Given the description of an element on the screen output the (x, y) to click on. 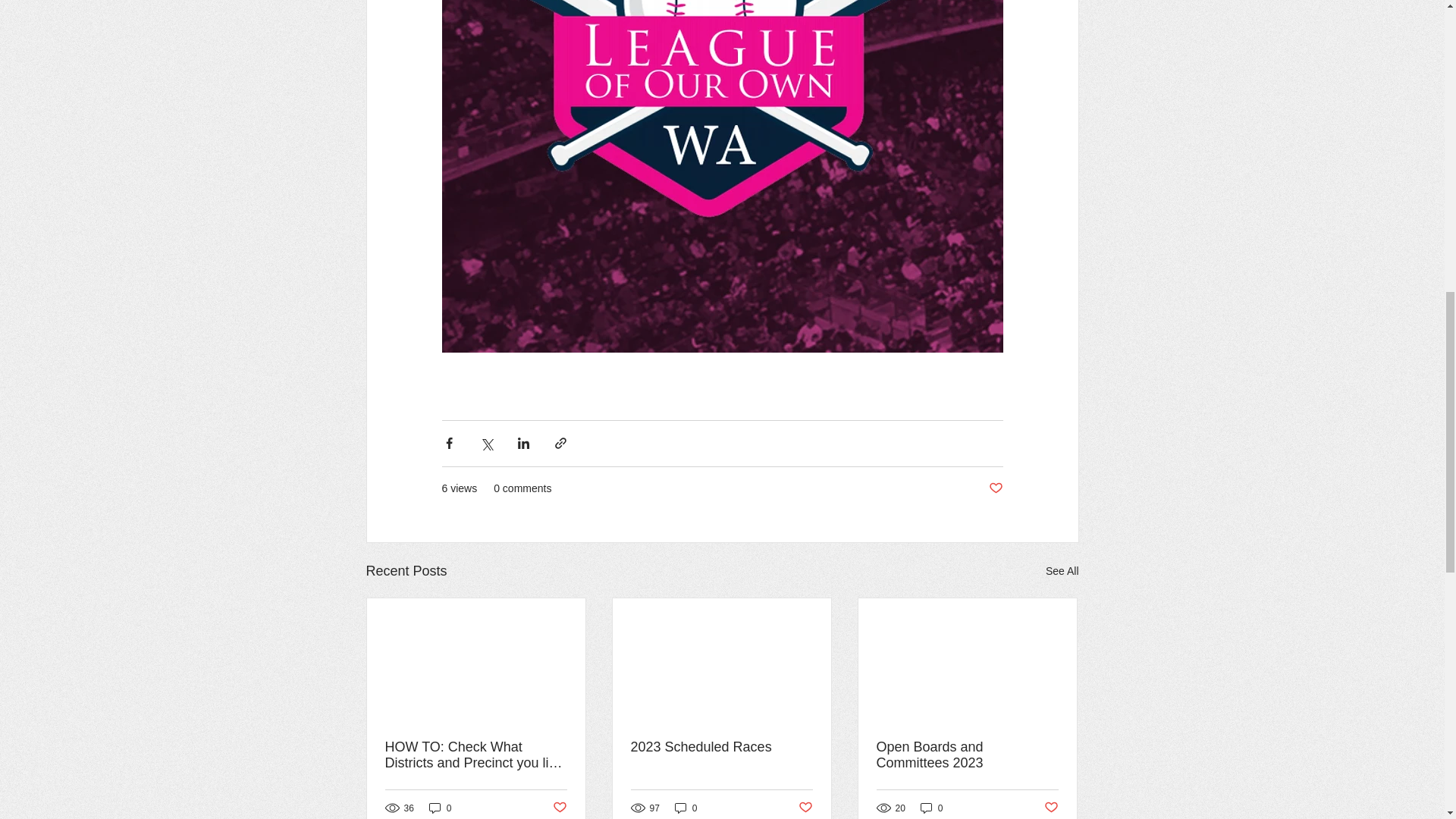
Post not marked as liked (558, 807)
See All (1061, 571)
Open Boards and Committees 2023 (967, 755)
0 (685, 807)
Post not marked as liked (804, 807)
2023 Scheduled Races (721, 747)
Post not marked as liked (995, 488)
Post not marked as liked (1050, 807)
0 (931, 807)
HOW TO: Check What Districts and Precinct you live in (476, 755)
0 (440, 807)
